Given the description of an element on the screen output the (x, y) to click on. 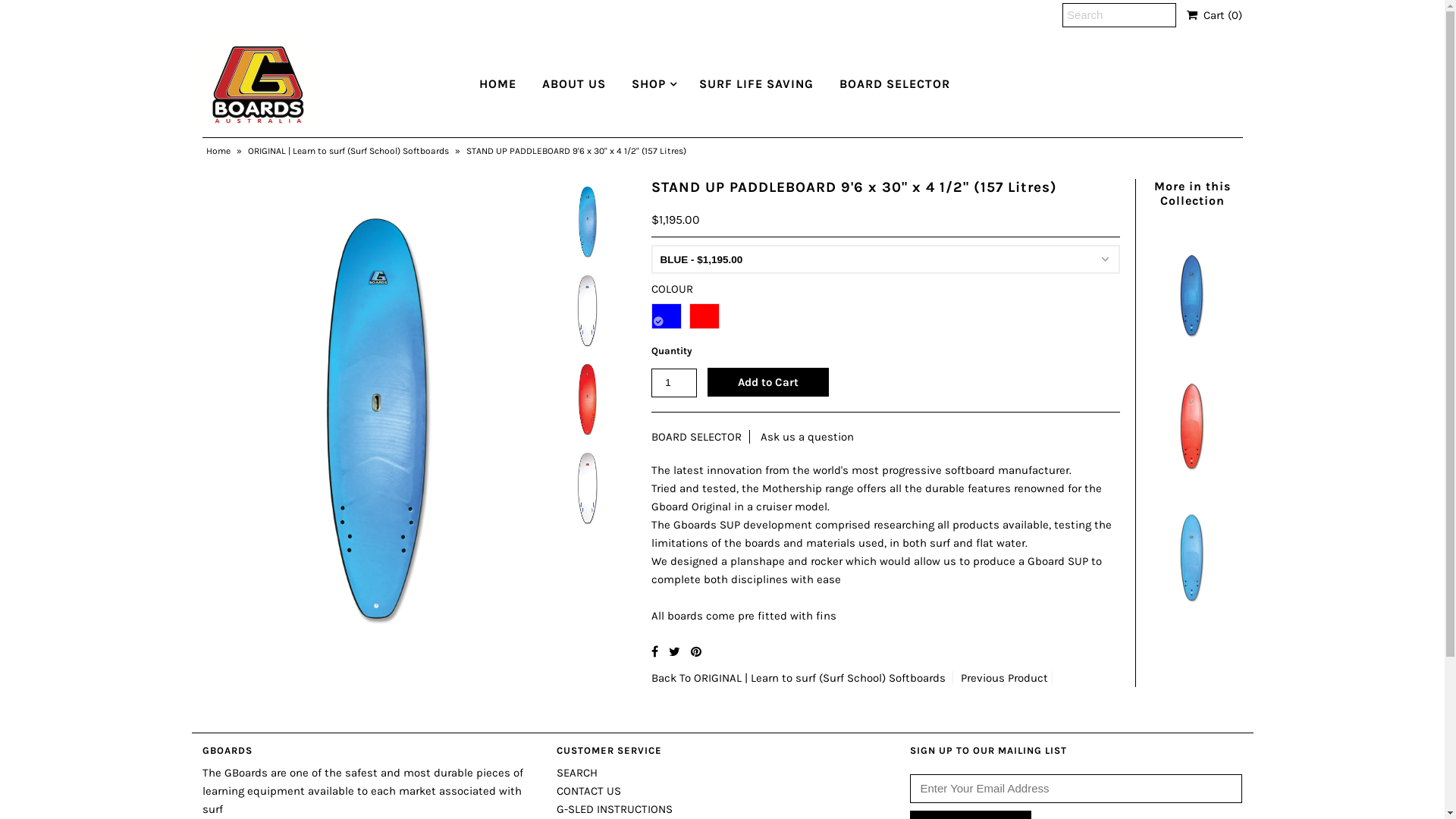
HOME Element type: text (497, 84)
GBOARD ORIGINAL - LEARN TO SURF (Surf School) SOFTBOARD 6'6 Element type: hover (1191, 479)
Previous Product Element type: text (1004, 677)
GBOARD ORIGINAL - LEARN TO SURF (Surf School) SOFTBOARD 6'0 Element type: hover (1191, 346)
ORIGINAL | Learn to surf (Surf School) Softboards Element type: text (819, 677)
Pin This Product Element type: hover (695, 651)
GBOARD ORIGINAL - LEARN TO SURF (Surf School) SOFTBOARD 7'0 Element type: hover (1191, 611)
Share on Twitter Element type: hover (674, 651)
  Cart (0) Element type: text (1214, 14)
STAND UP PADDLEBOARD 9'6 x 30 Element type: hover (377, 405)
Home Element type: text (220, 150)
Add to Cart Element type: text (767, 381)
SEARCH Element type: text (576, 772)
CONTACT US Element type: text (588, 790)
G-SLED INSTRUCTIONS Element type: text (614, 808)
SHOP Element type: text (648, 84)
ORIGINAL | Learn to surf (Surf School) Softboards Element type: text (349, 150)
SURF LIFE SAVING Element type: text (756, 84)
Ask us a question Element type: text (806, 436)
BOARD SELECTOR Element type: text (894, 84)
ABOUT US Element type: text (573, 84)
BOARD SELECTOR Element type: text (696, 436)
